Given the description of an element on the screen output the (x, y) to click on. 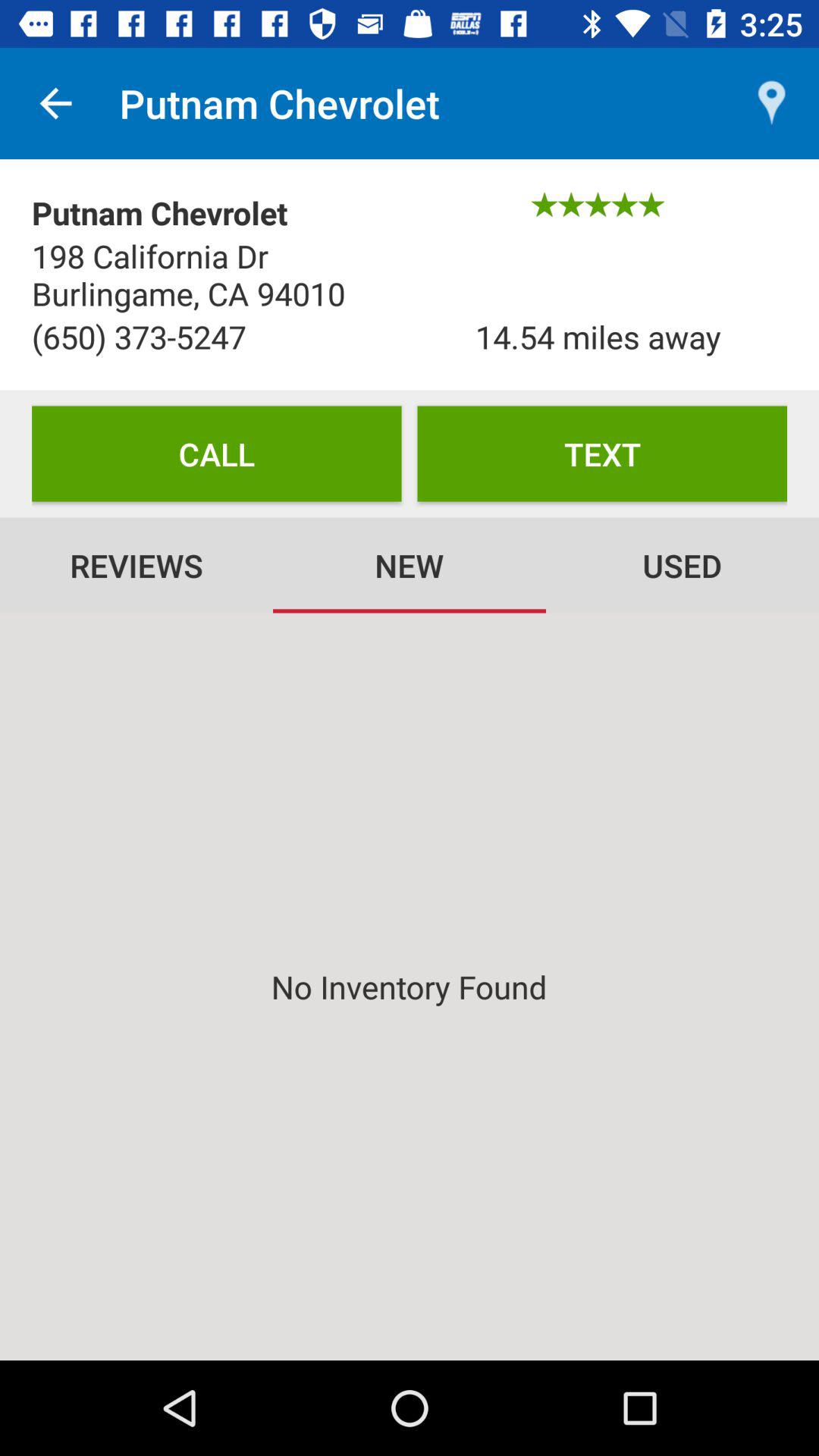
turn off the icon next to the putnam chevrolet (55, 103)
